Given the description of an element on the screen output the (x, y) to click on. 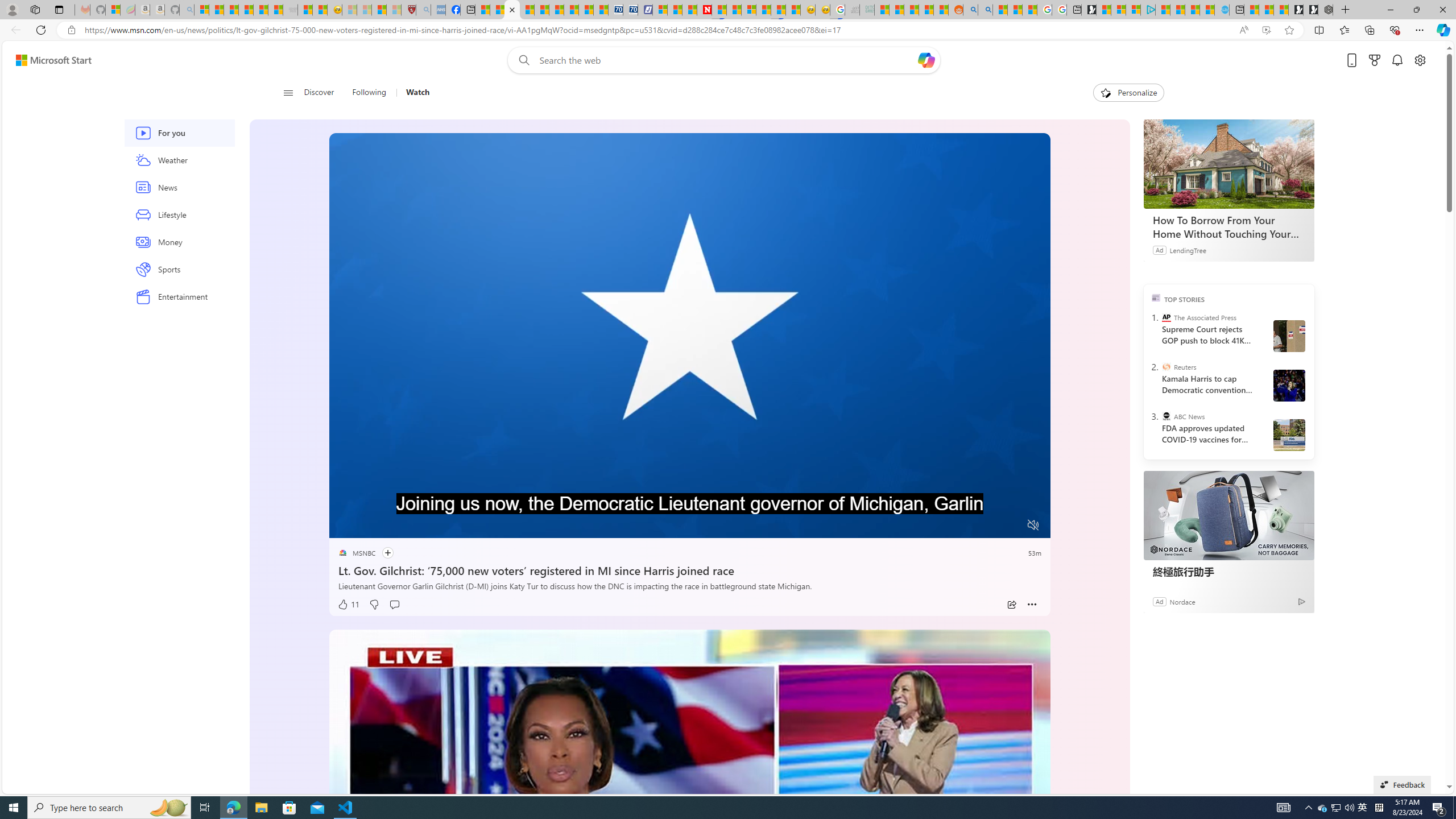
Quality Settings (964, 525)
placeholder MSNBC (356, 552)
Follow (381, 553)
Seek Back (368, 525)
ABC News (1165, 415)
